Given the description of an element on the screen output the (x, y) to click on. 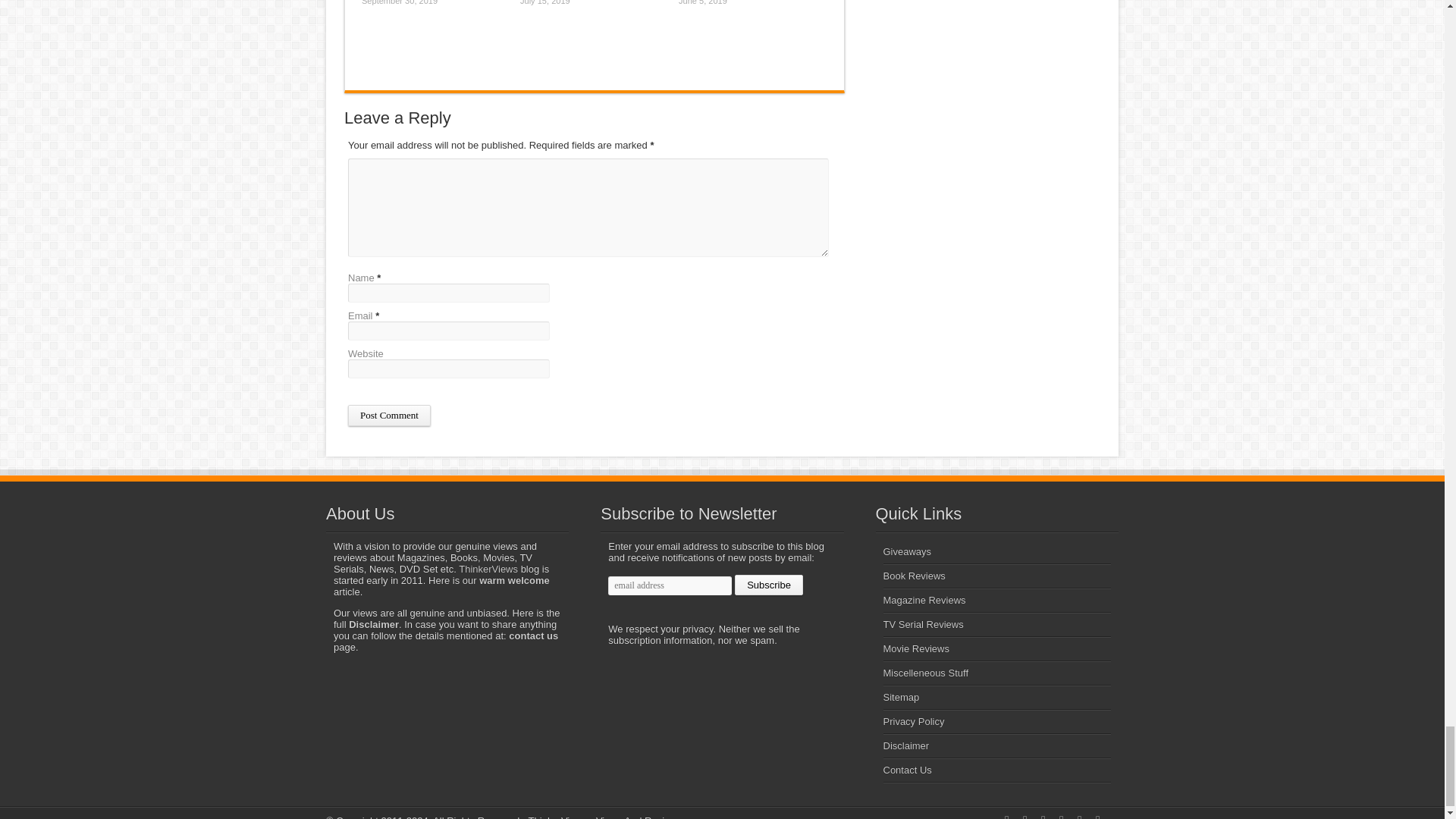
Subscribe (769, 584)
Post Comment (388, 414)
